Given the description of an element on the screen output the (x, y) to click on. 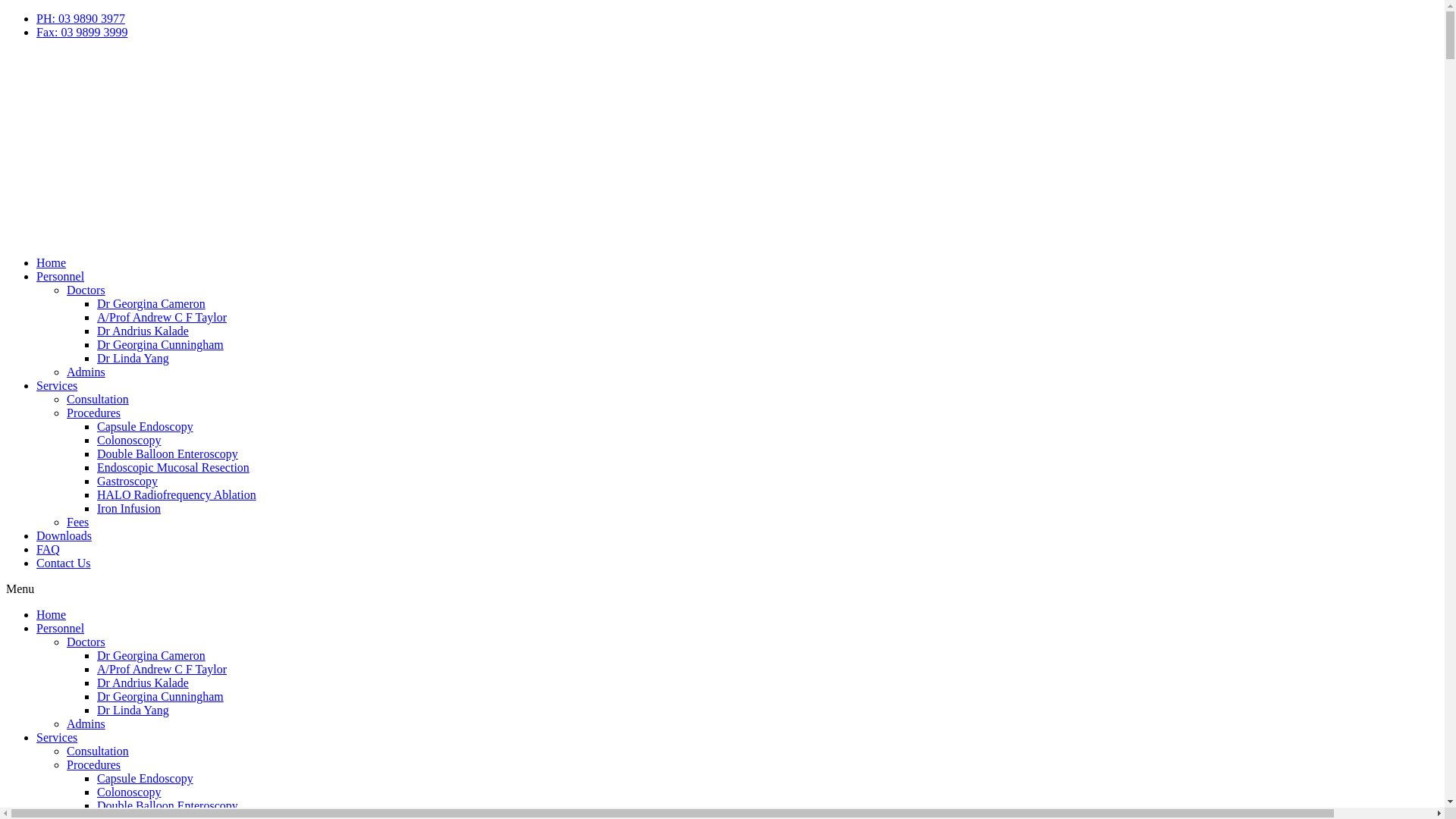
Home Element type: text (50, 614)
A/Prof Andrew C F Taylor Element type: text (161, 668)
Doctors Element type: text (85, 289)
Dr Linda Yang Element type: text (133, 357)
Dr Linda Yang Element type: text (133, 709)
Home Element type: text (50, 262)
PH: 03 9890 3977 Element type: text (80, 18)
Gastroscopy Element type: text (127, 480)
Colonoscopy Element type: text (128, 439)
Fax: 03 9899 3999 Element type: text (81, 31)
HALO Radiofrequency Ablation Element type: text (176, 494)
Services Element type: text (56, 385)
Dr Georgina Cunningham Element type: text (160, 696)
Procedures Element type: text (93, 764)
Consultation Element type: text (97, 750)
Dr Georgina Cameron Element type: text (151, 303)
Double Balloon Enteroscopy Element type: text (167, 805)
A/Prof Andrew C F Taylor Element type: text (161, 316)
Dr Andrius Kalade Element type: text (142, 330)
Services Element type: text (56, 737)
Doctors Element type: text (85, 641)
Colonoscopy Element type: text (128, 791)
Procedures Element type: text (93, 412)
Dr Andrius Kalade Element type: text (142, 682)
Iron Infusion Element type: text (128, 508)
Fees Element type: text (77, 521)
FAQ Element type: text (47, 548)
Dr Georgina Cunningham Element type: text (160, 344)
Consultation Element type: text (97, 398)
Personnel Element type: text (60, 627)
Personnel Element type: text (60, 275)
Endoscopic Mucosal Resection Element type: text (173, 467)
Downloads Element type: text (63, 535)
Dr Georgina Cameron Element type: text (151, 655)
Contact Us Element type: text (63, 562)
Admins Element type: text (85, 723)
Double Balloon Enteroscopy Element type: text (167, 453)
Capsule Endoscopy Element type: text (145, 426)
Admins Element type: text (85, 371)
Capsule Endoscopy Element type: text (145, 777)
